Given the description of an element on the screen output the (x, y) to click on. 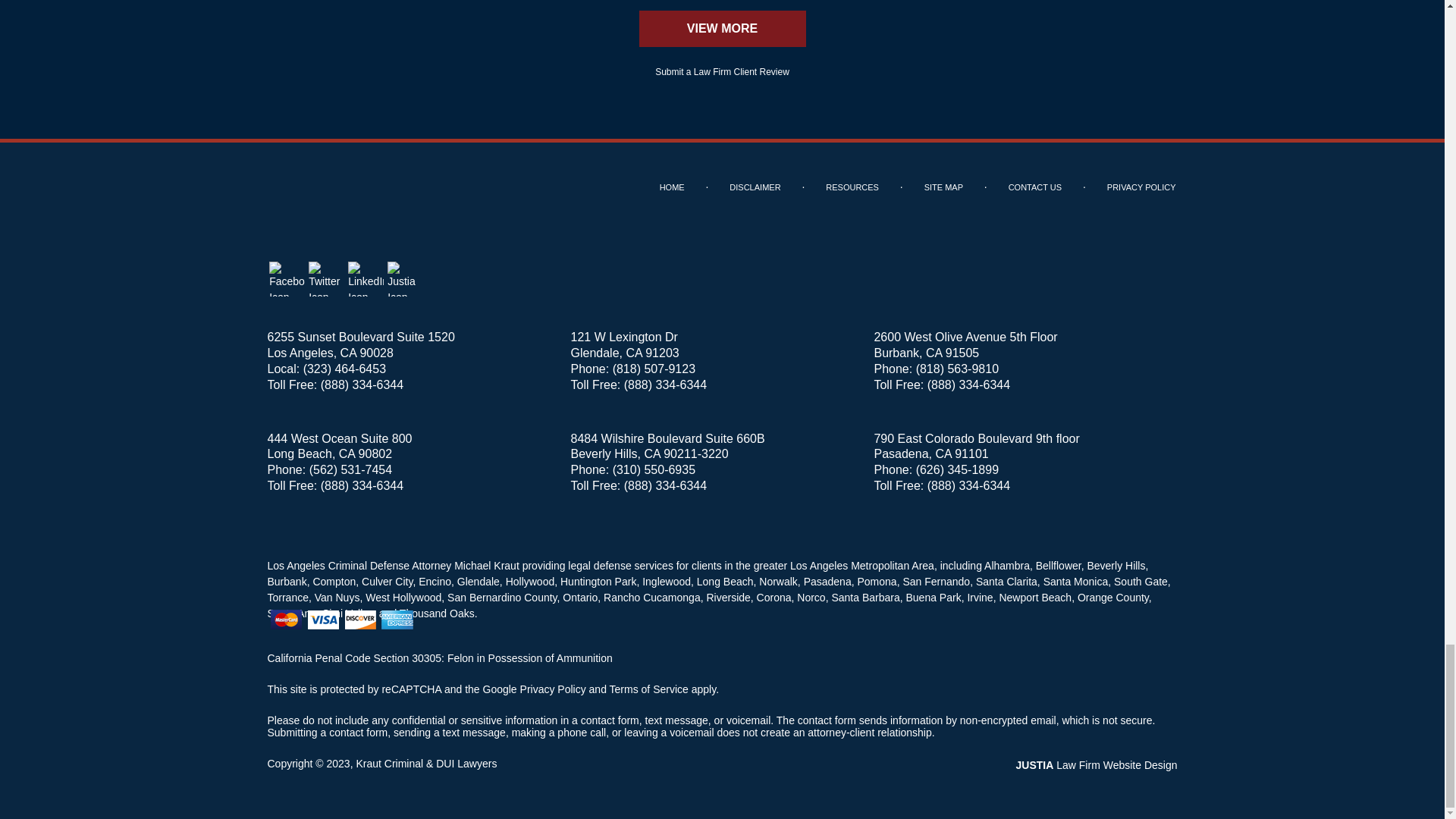
LinkedIn (365, 279)
Facebook (285, 279)
Twitter (325, 279)
Justia (405, 279)
